Given the description of an element on the screen output the (x, y) to click on. 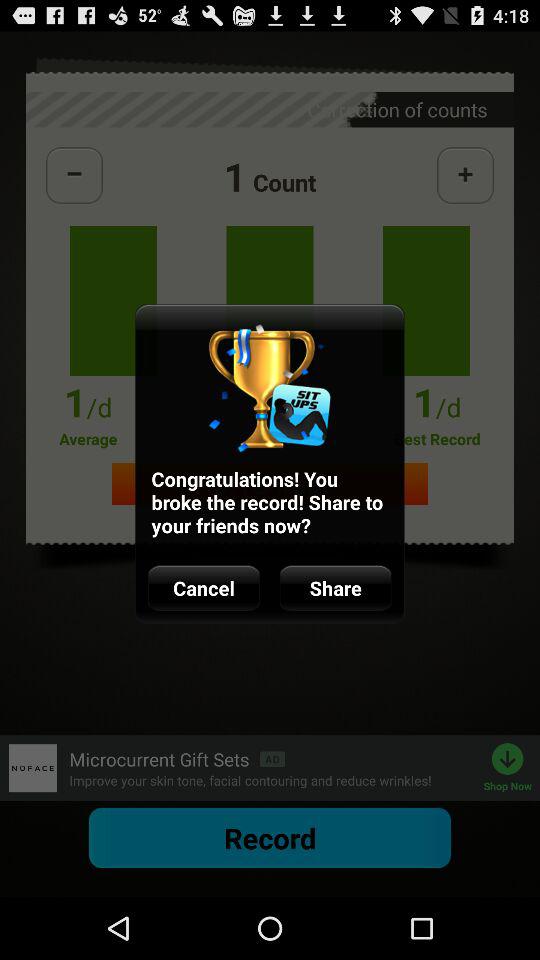
choose icon to the left of the share (203, 588)
